Given the description of an element on the screen output the (x, y) to click on. 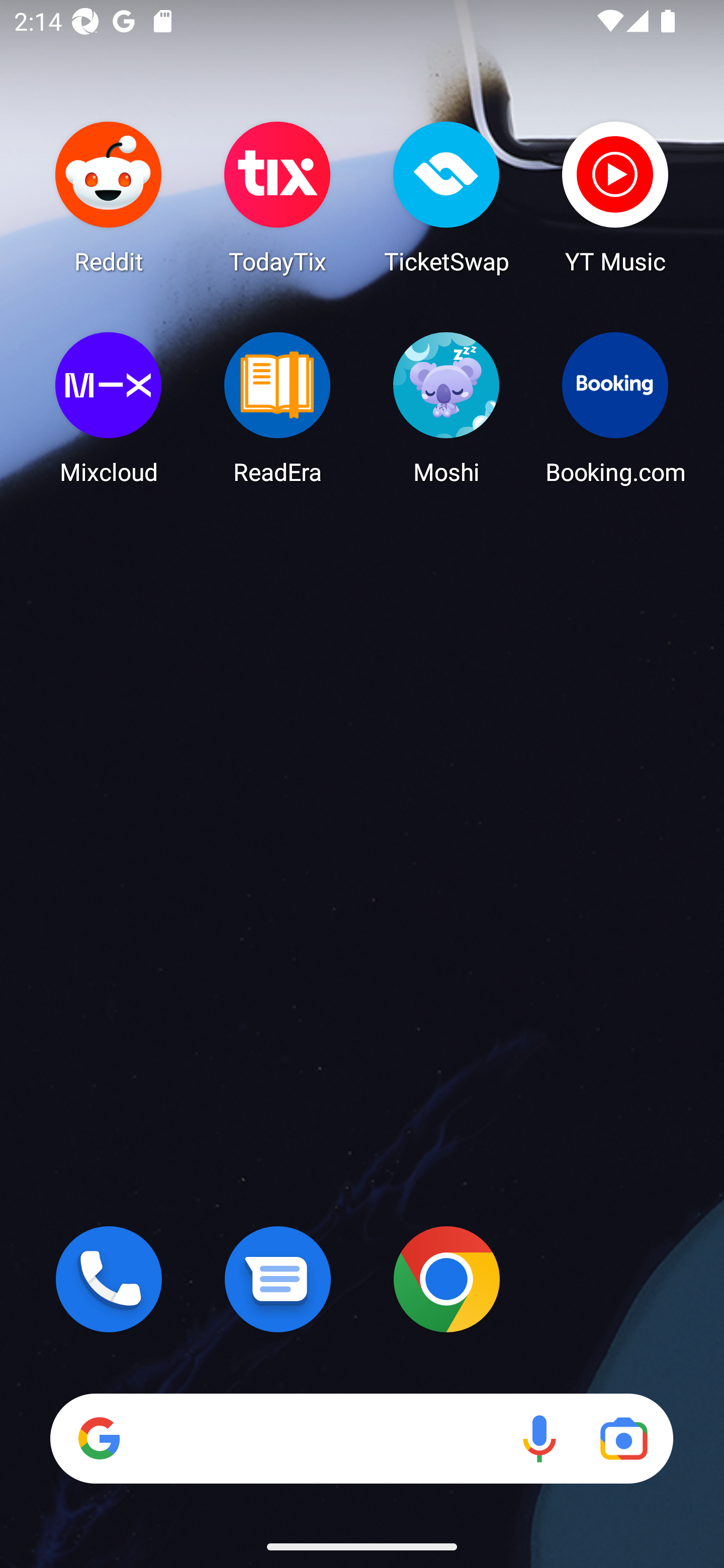
Reddit (108, 196)
TodayTix (277, 196)
TicketSwap (445, 196)
YT Music (615, 196)
Mixcloud (108, 407)
ReadEra (277, 407)
Moshi (445, 407)
Booking.com (615, 407)
Phone (108, 1279)
Messages (277, 1279)
Chrome (446, 1279)
Search Voice search Google Lens (361, 1438)
Voice search (539, 1438)
Google Lens (623, 1438)
